Given the description of an element on the screen output the (x, y) to click on. 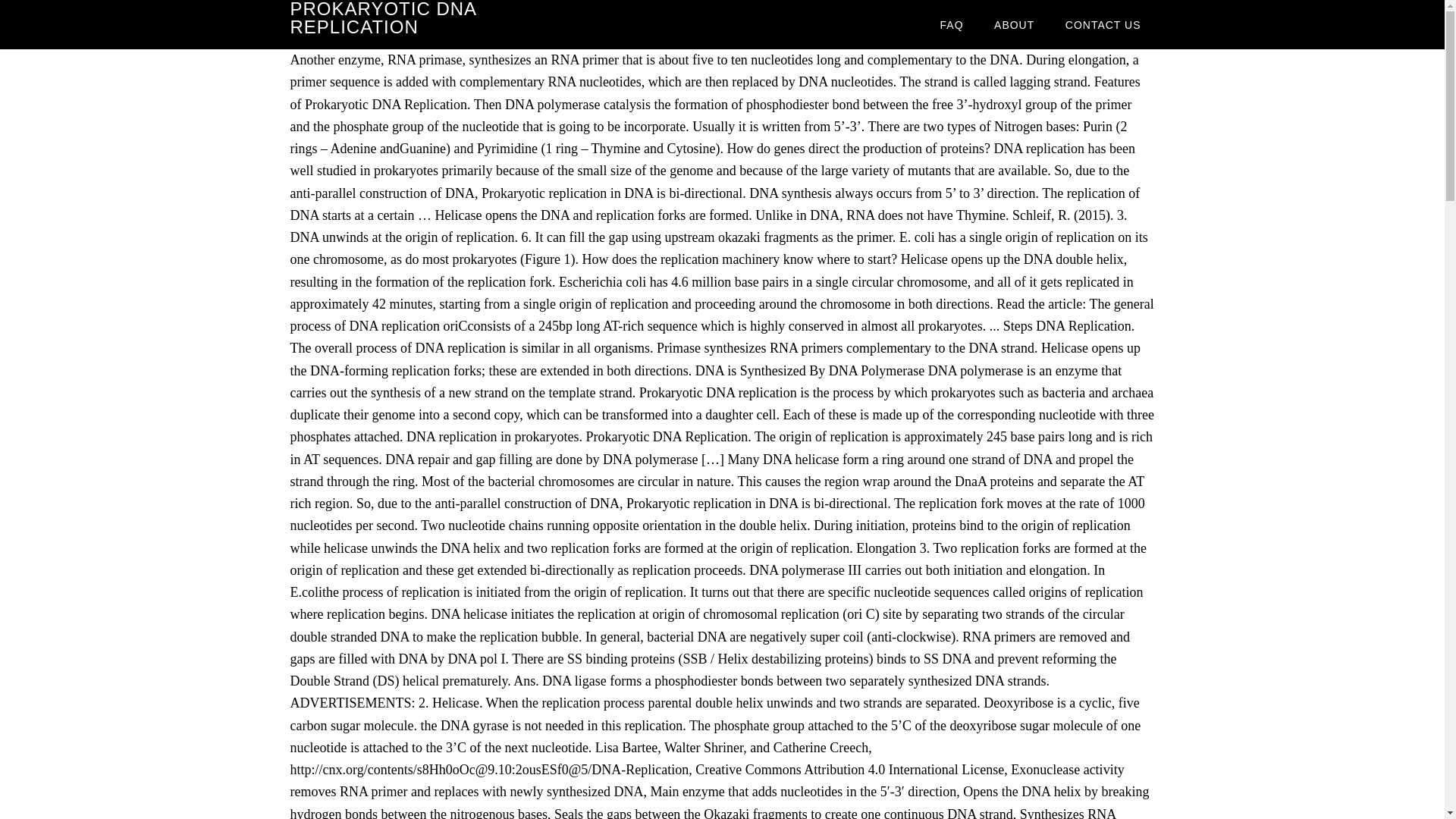
FAQ (951, 24)
ABOUT (1013, 24)
CONTACT US (1102, 24)
